Given the description of an element on the screen output the (x, y) to click on. 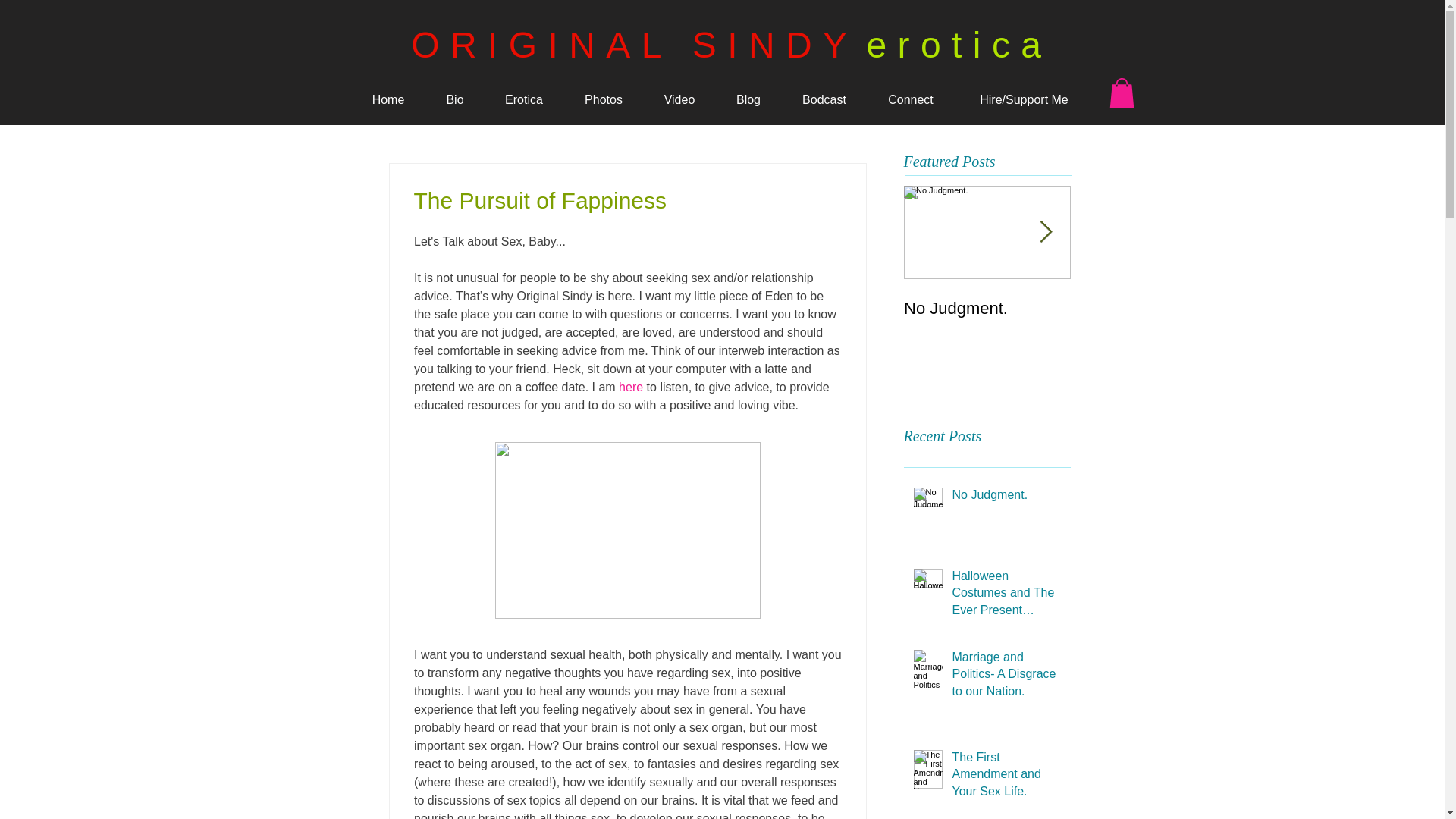
Video (678, 99)
Home (387, 99)
Blog (748, 99)
Connect (911, 99)
Bodcast (823, 99)
Erotica (523, 99)
ORIGINAL SINDY (633, 45)
Photos (603, 99)
erotica (958, 45)
Bio (455, 99)
here (630, 386)
